Given the description of an element on the screen output the (x, y) to click on. 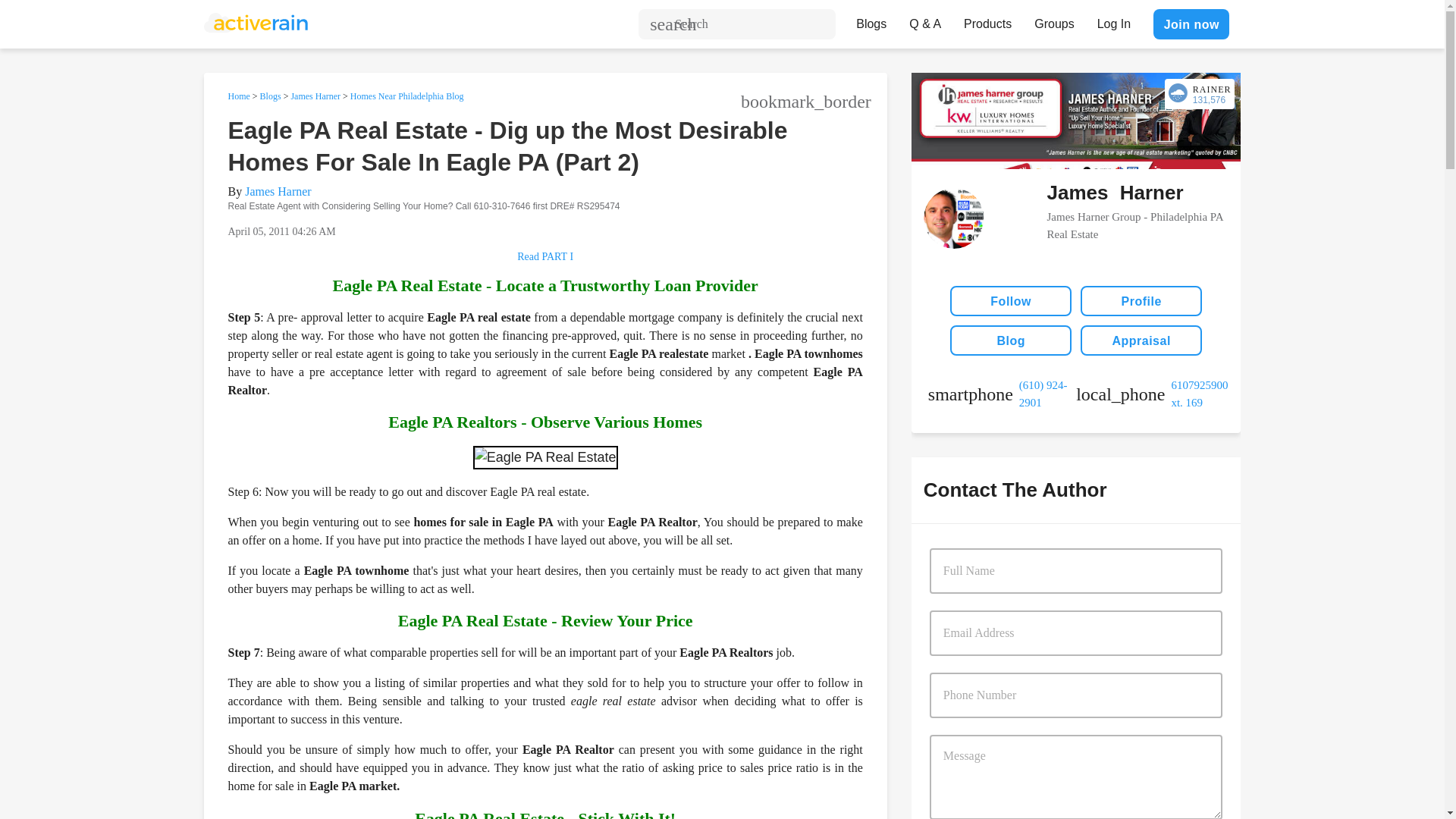
Blogs (270, 95)
Join now (1190, 24)
Read PART I (833, 263)
work (1149, 393)
James Harner (277, 191)
Log In (1113, 19)
Home (237, 95)
Products (986, 19)
Eagle PA Real Estate (545, 457)
Homes Near Philadelphia Blog (407, 95)
James Harner (314, 95)
Blogs (870, 19)
cell (1001, 393)
Groups (1053, 19)
